Given the description of an element on the screen output the (x, y) to click on. 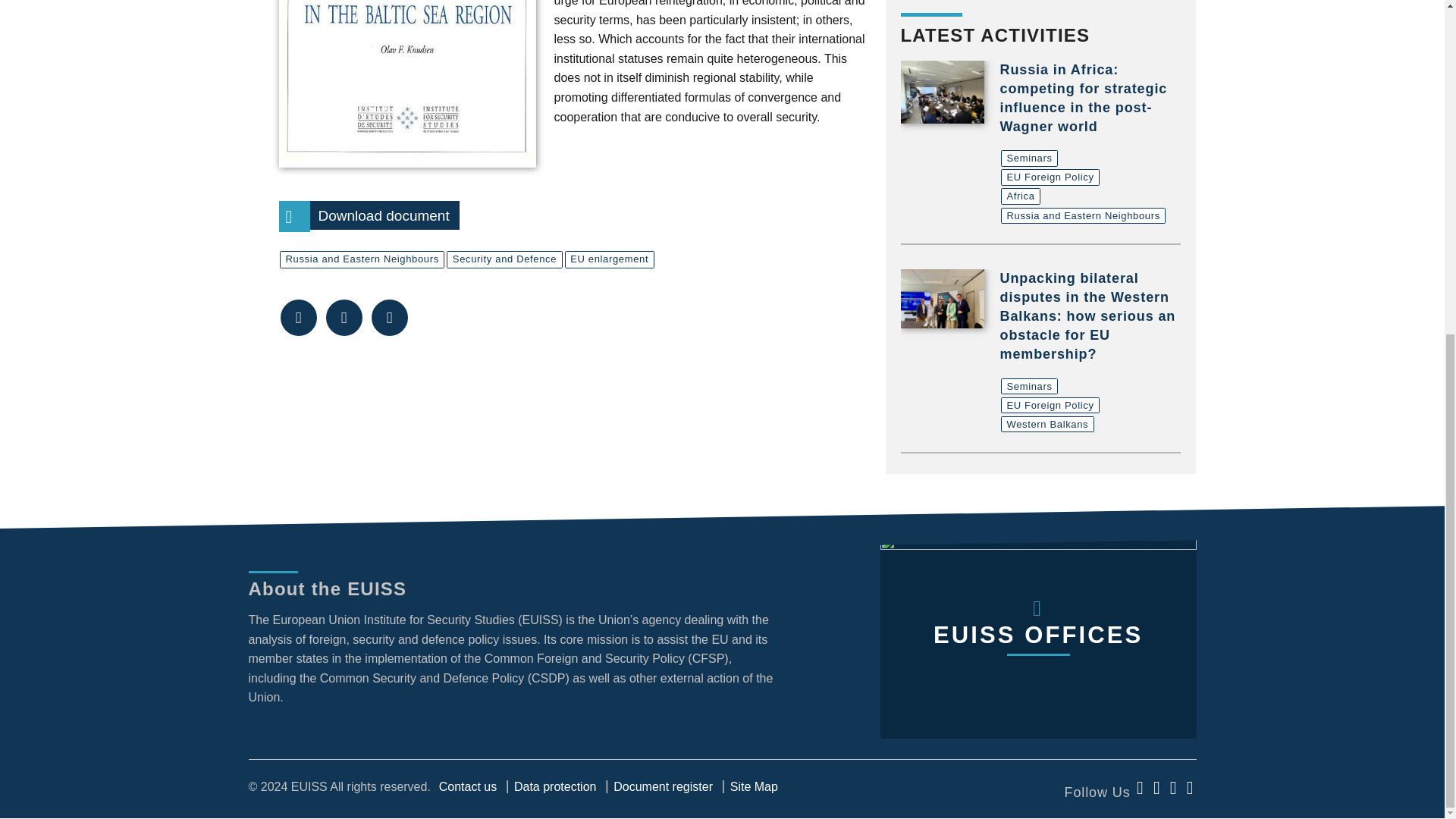
Download document (407, 80)
cp033e.pdf (369, 215)
